Given the description of an element on the screen output the (x, y) to click on. 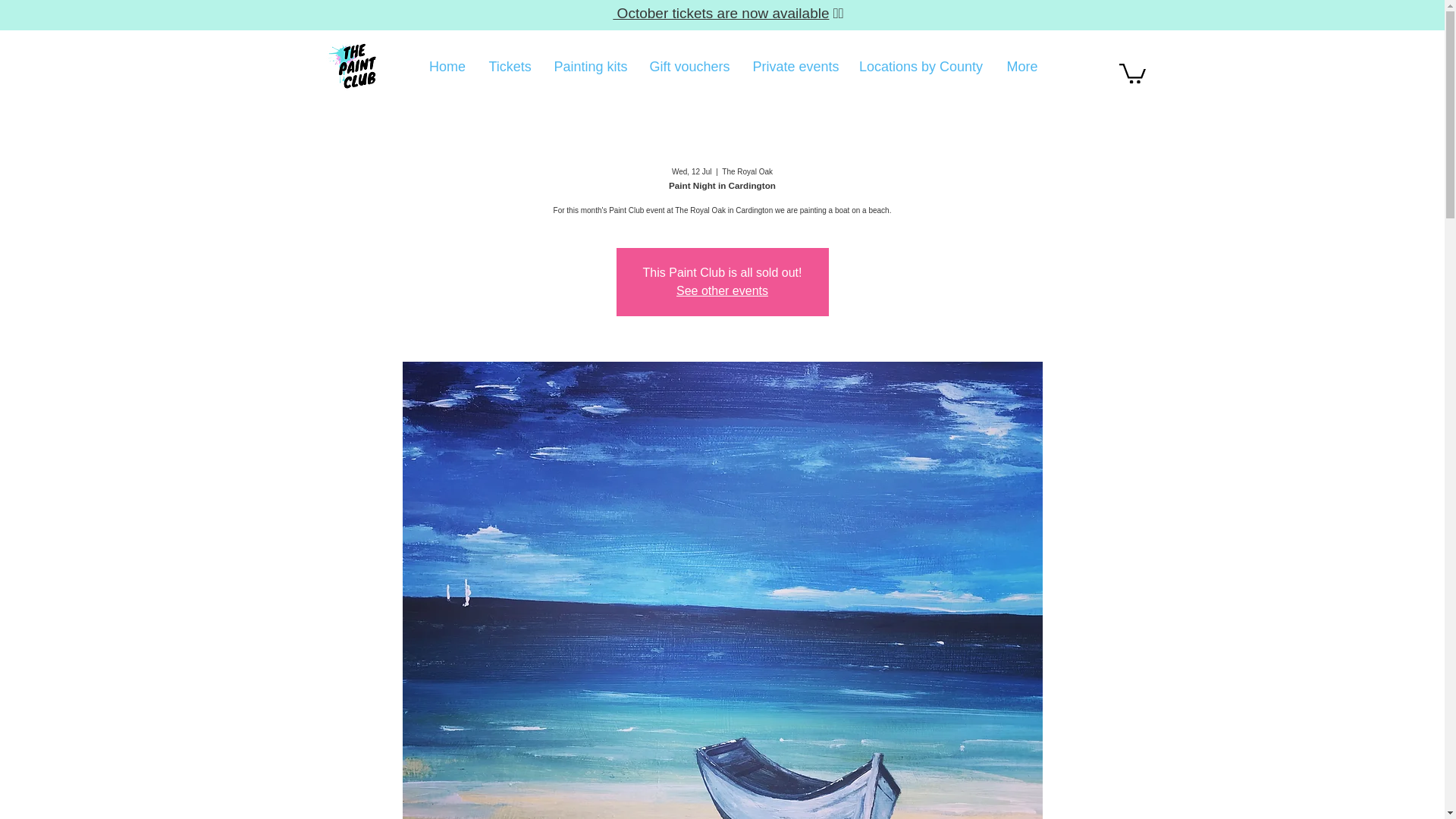
 October tickets are now available (720, 12)
Tickets (510, 66)
Home (446, 66)
